Given the description of an element on the screen output the (x, y) to click on. 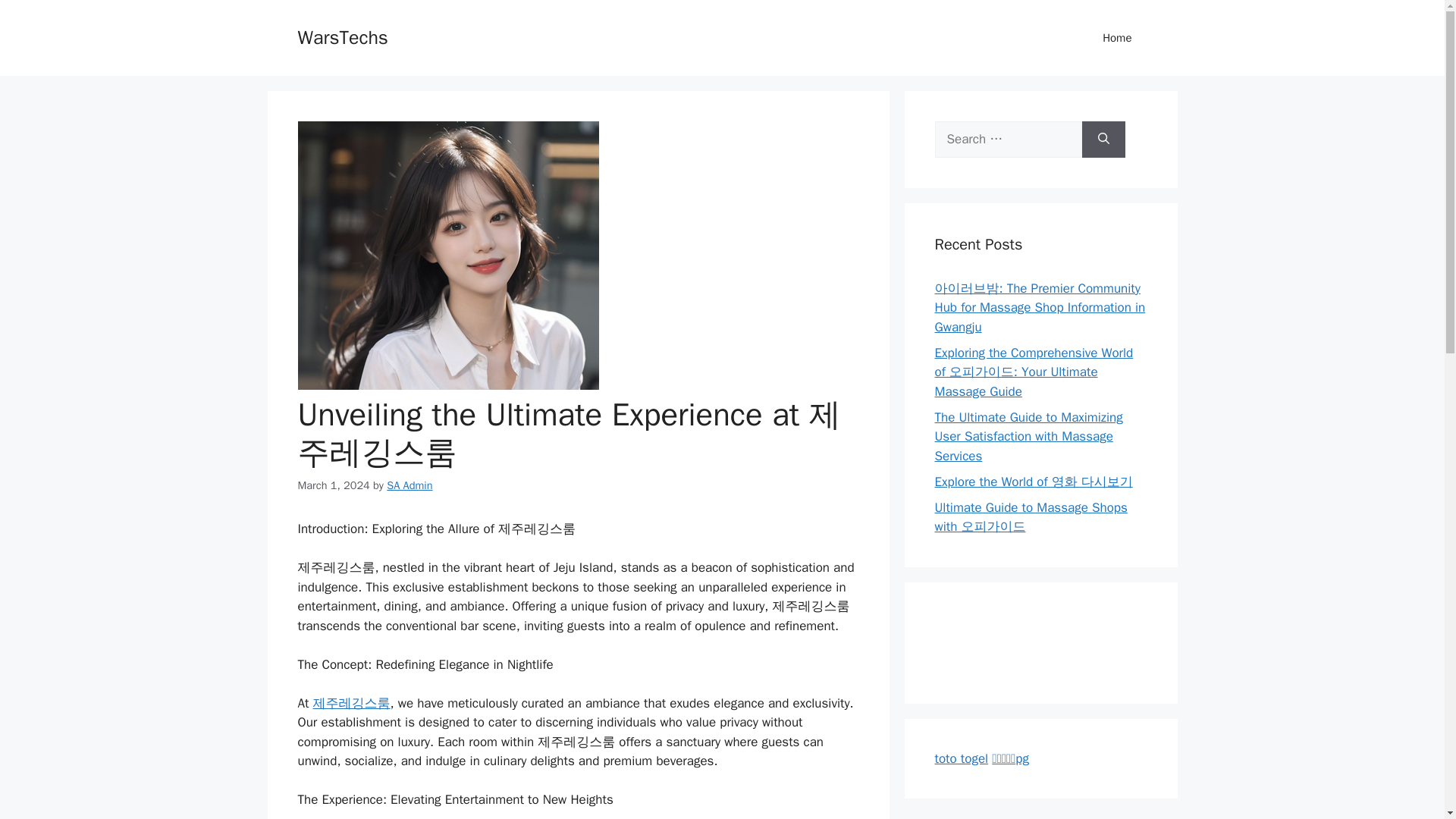
toto togel (961, 758)
SA Admin (409, 484)
Search for: (1007, 139)
Home (1117, 37)
View all posts by SA Admin (409, 484)
WarsTechs (342, 37)
